Given the description of an element on the screen output the (x, y) to click on. 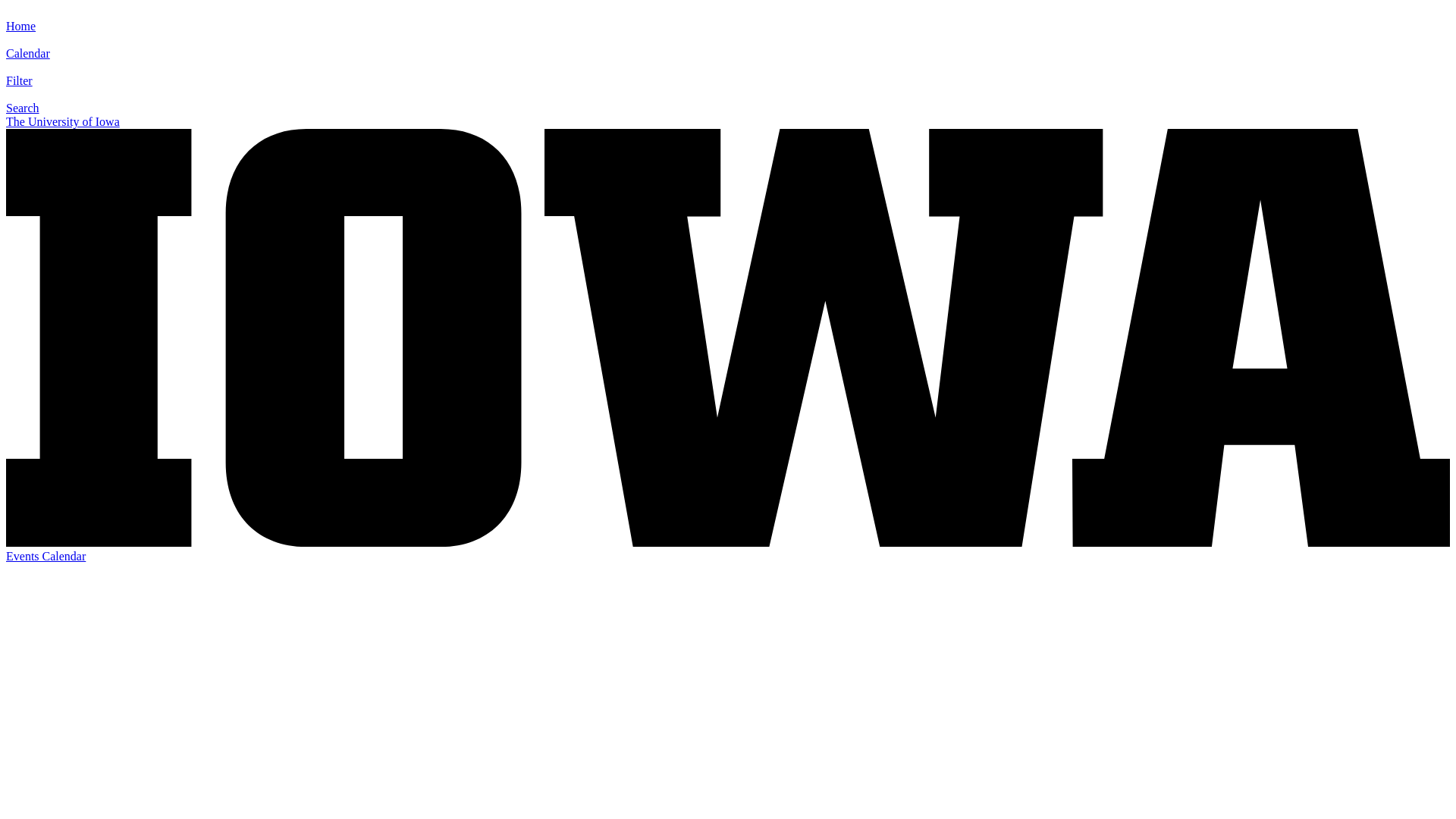
Search (22, 114)
Filter (18, 87)
Home (19, 32)
Calendar (27, 59)
